Given the description of an element on the screen output the (x, y) to click on. 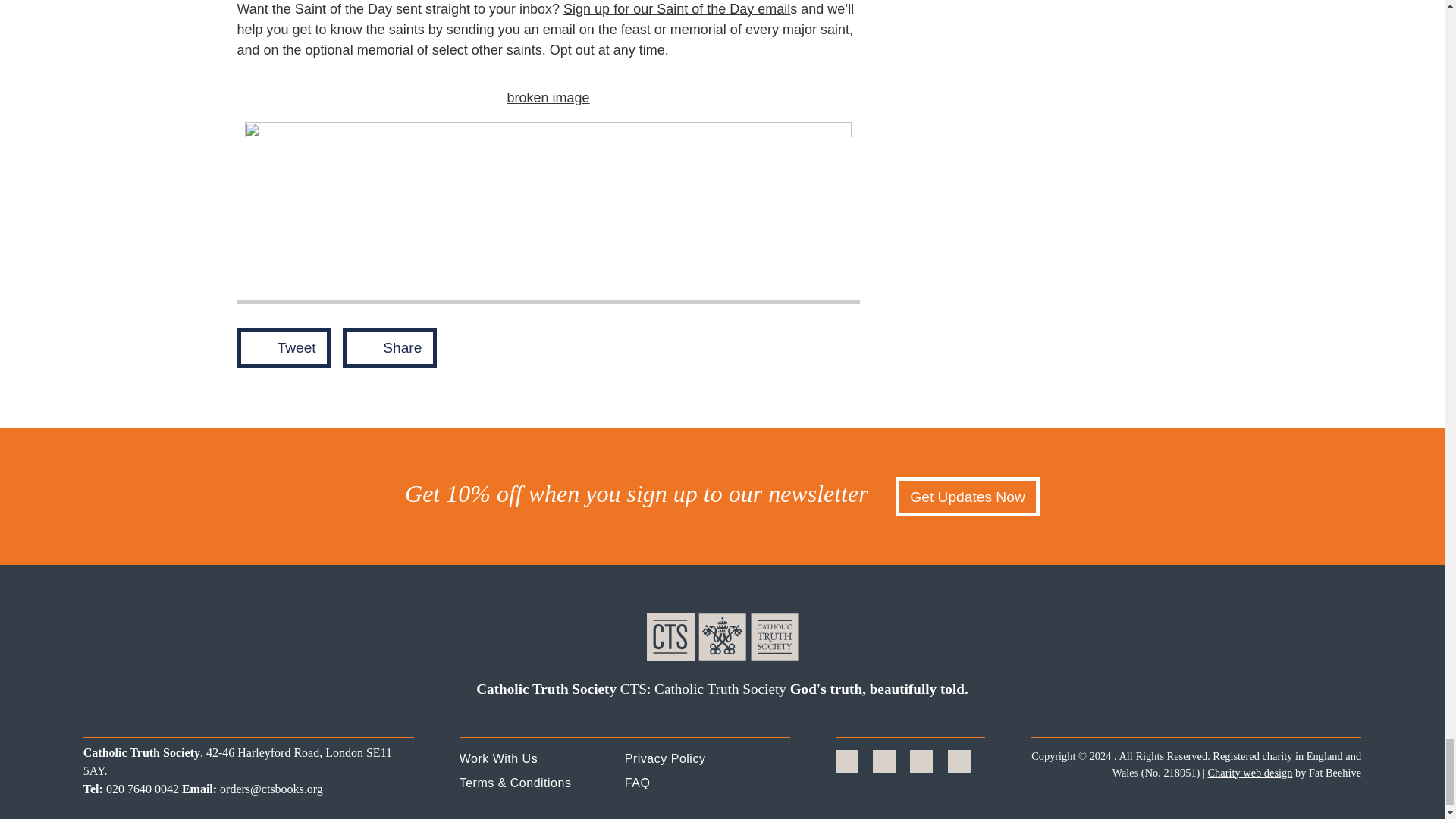
Instagram (921, 760)
Twitter (884, 760)
Facebook (847, 760)
Youtube (959, 760)
